Given the description of an element on the screen output the (x, y) to click on. 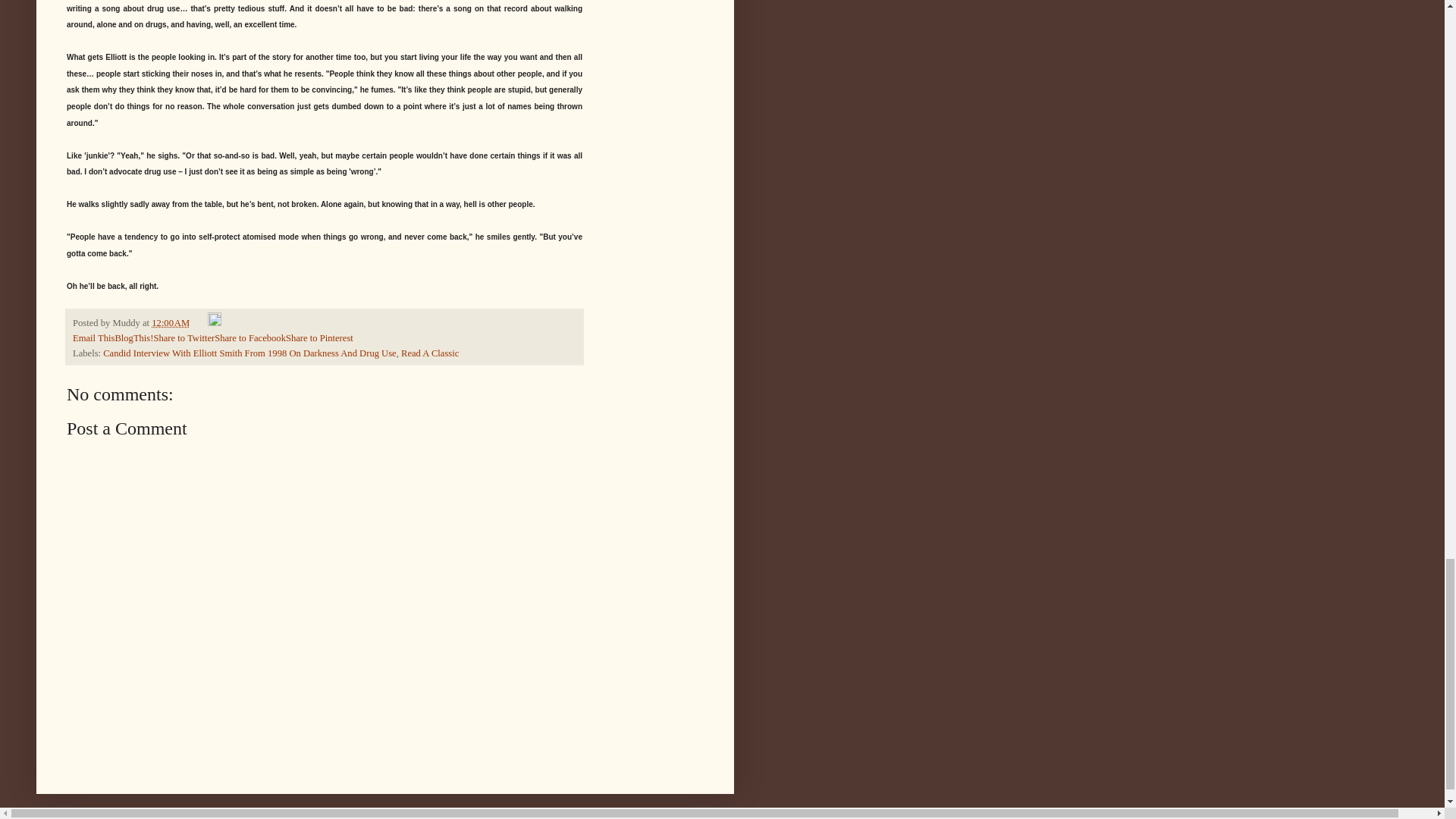
Read A Classic (429, 353)
Share to Facebook (249, 337)
Email This (93, 337)
Email Post (200, 322)
Share to Pinterest (319, 337)
Share to Twitter (183, 337)
Share to Pinterest (319, 337)
BlogThis! (133, 337)
Edit Post (214, 322)
